Given the description of an element on the screen output the (x, y) to click on. 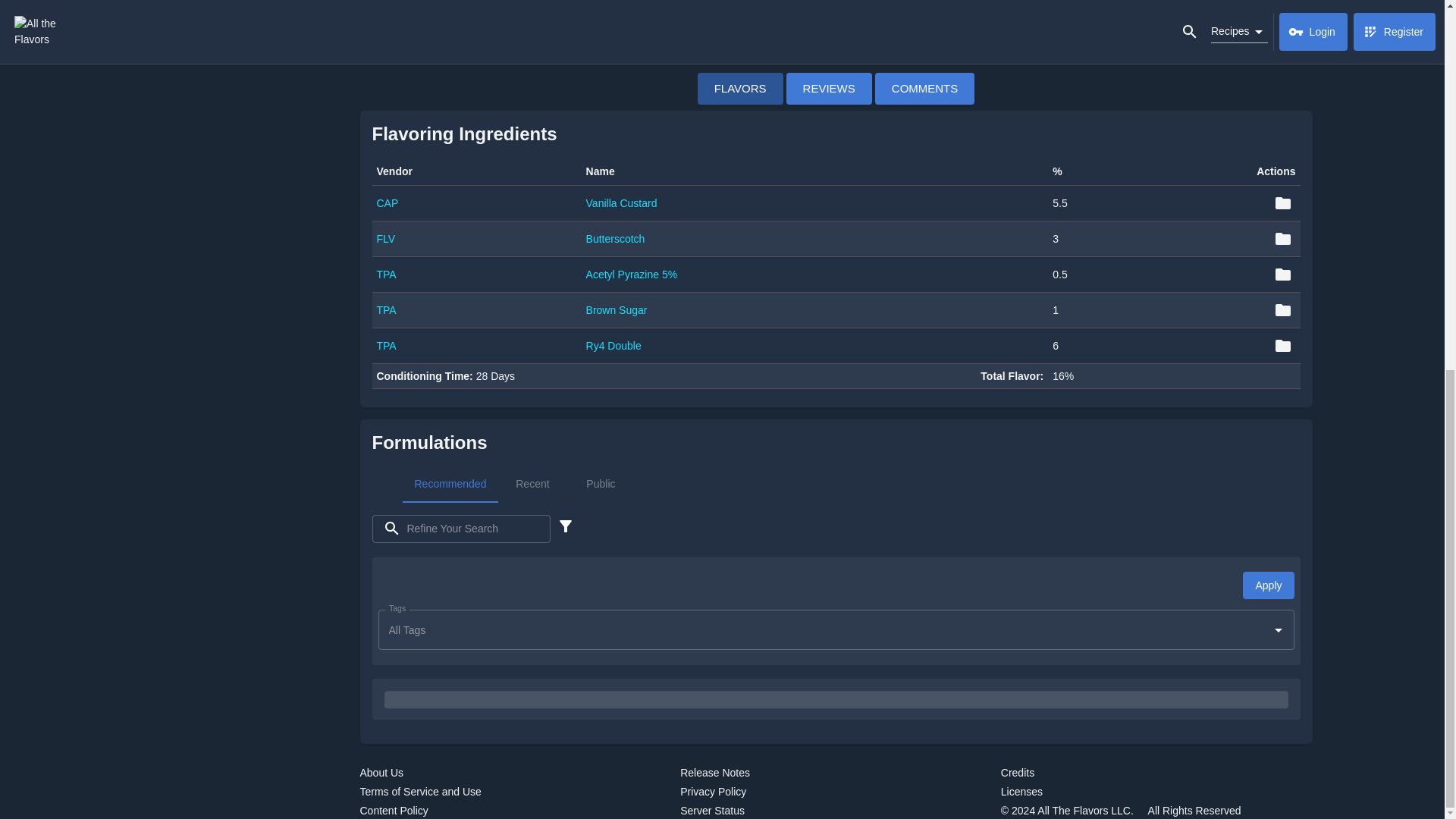
Open (1278, 629)
CAP (386, 203)
TPA (385, 309)
Brown Sugar (835, 484)
Butterscotch (616, 309)
FLV (615, 238)
TPA (384, 238)
COMMENTS (385, 274)
TPA (925, 88)
Recent (385, 345)
Recommended (531, 484)
Public (449, 484)
FLAVORS (600, 484)
REVIEWS (740, 88)
